Given the description of an element on the screen output the (x, y) to click on. 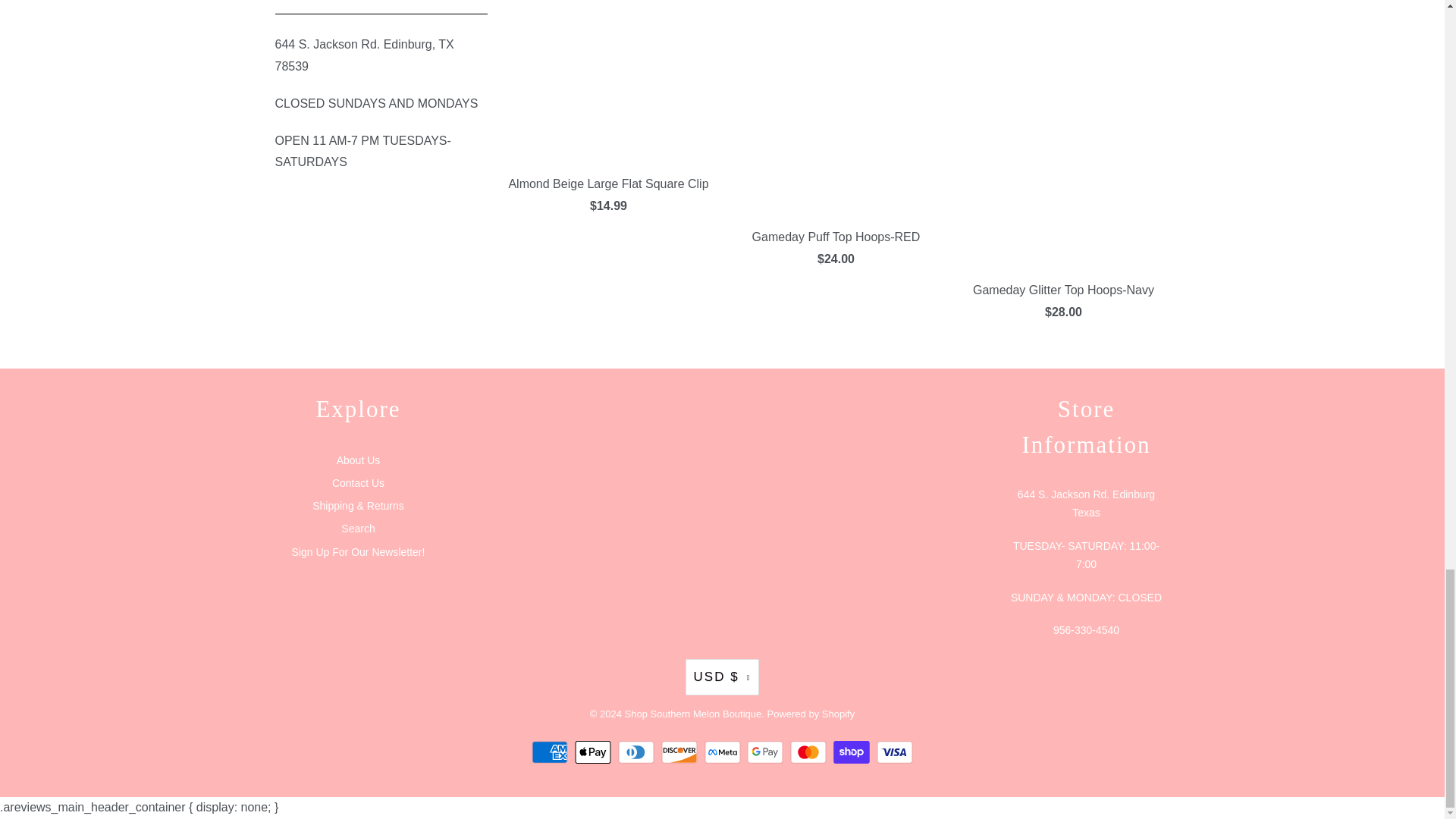
Google Pay (766, 752)
Shop Pay (852, 752)
Meta Pay (723, 752)
Apple Pay (594, 752)
Visa (894, 752)
American Express (551, 752)
Discover (681, 752)
Mastercard (809, 752)
Diners Club (637, 752)
